Given the description of an element on the screen output the (x, y) to click on. 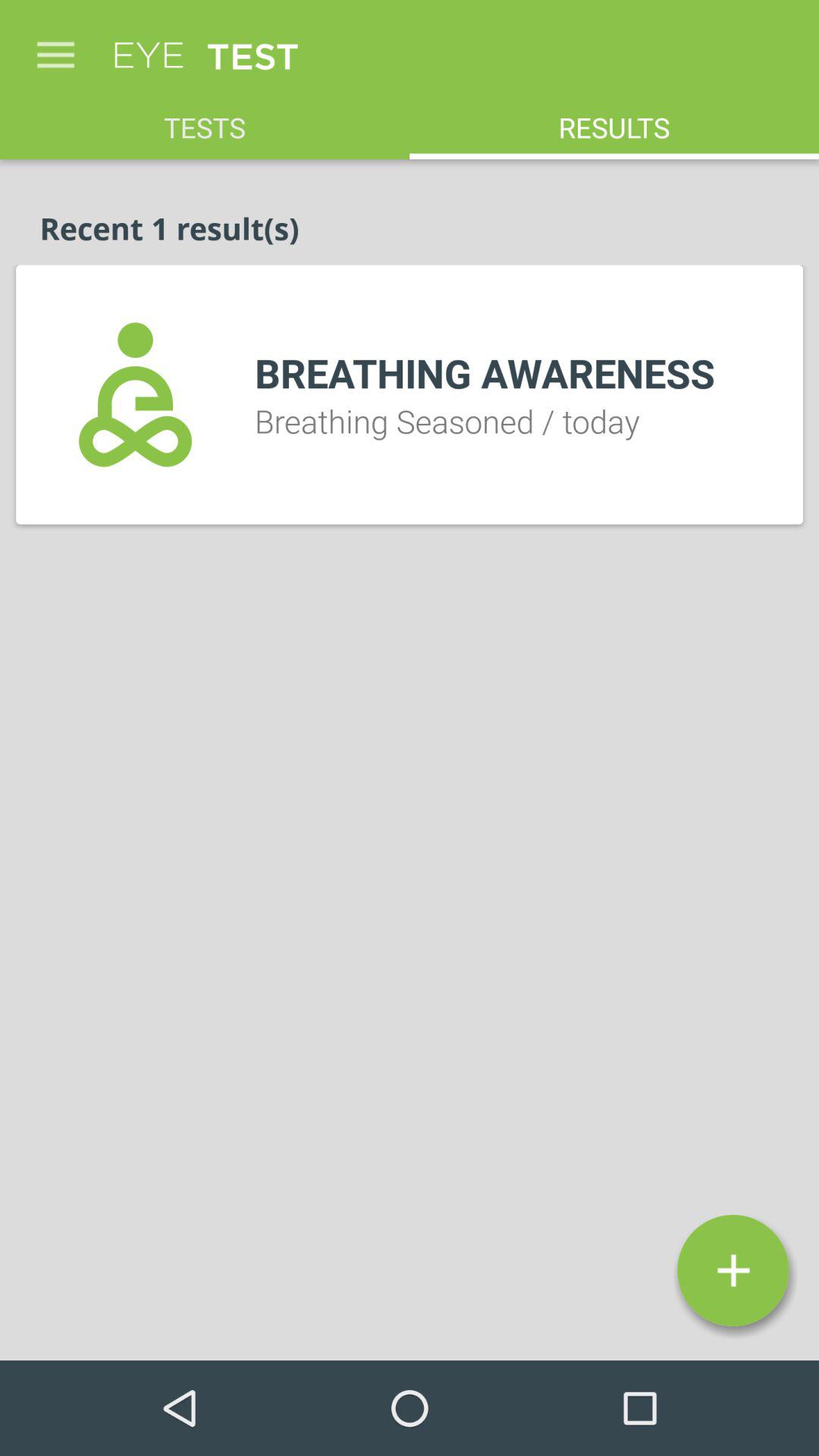
click item next to the eye icon (55, 47)
